Given the description of an element on the screen output the (x, y) to click on. 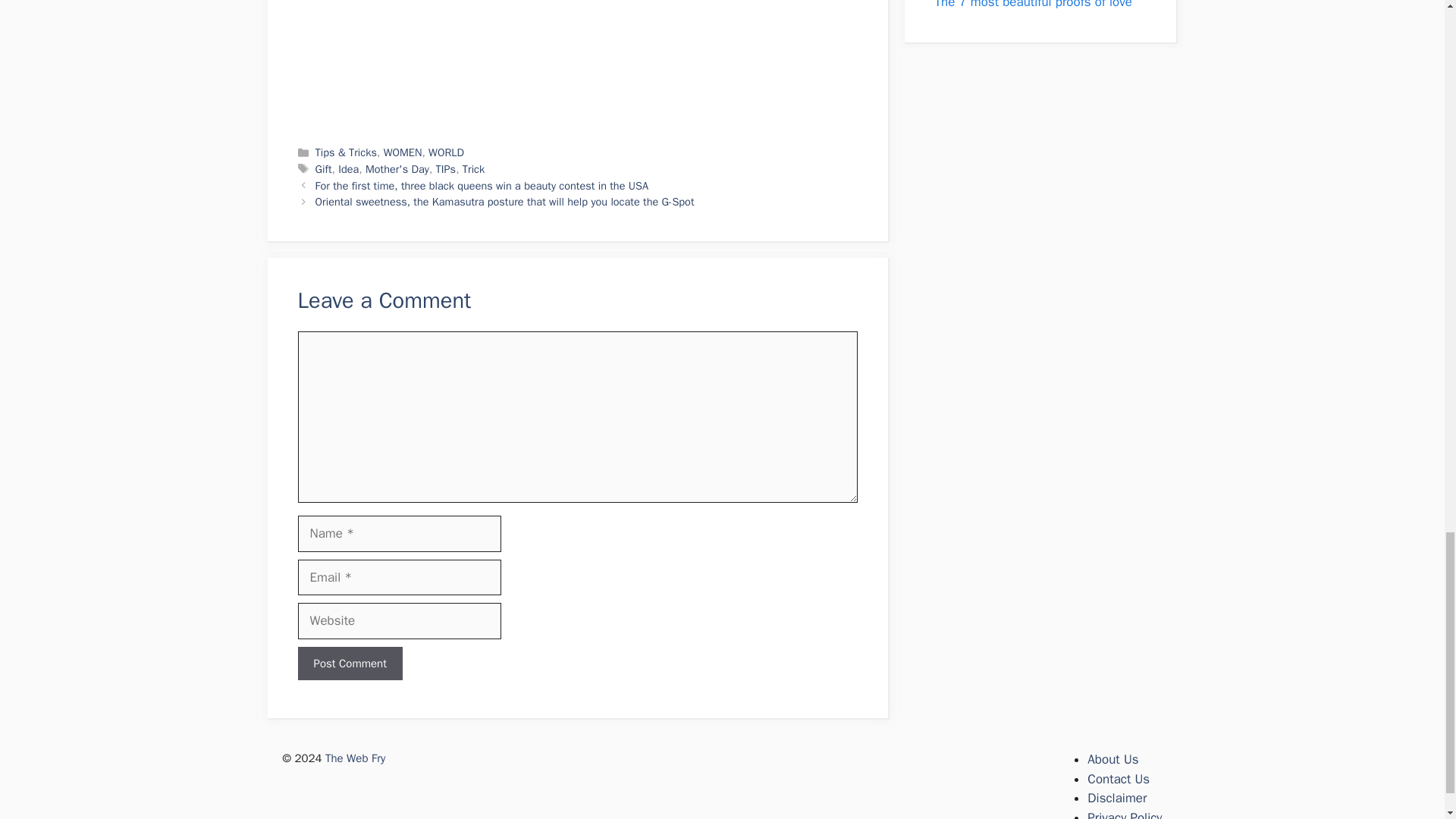
WOMEN (403, 151)
Post Comment (349, 663)
Gift (323, 169)
WORLD (446, 151)
Idea (347, 169)
